Given the description of an element on the screen output the (x, y) to click on. 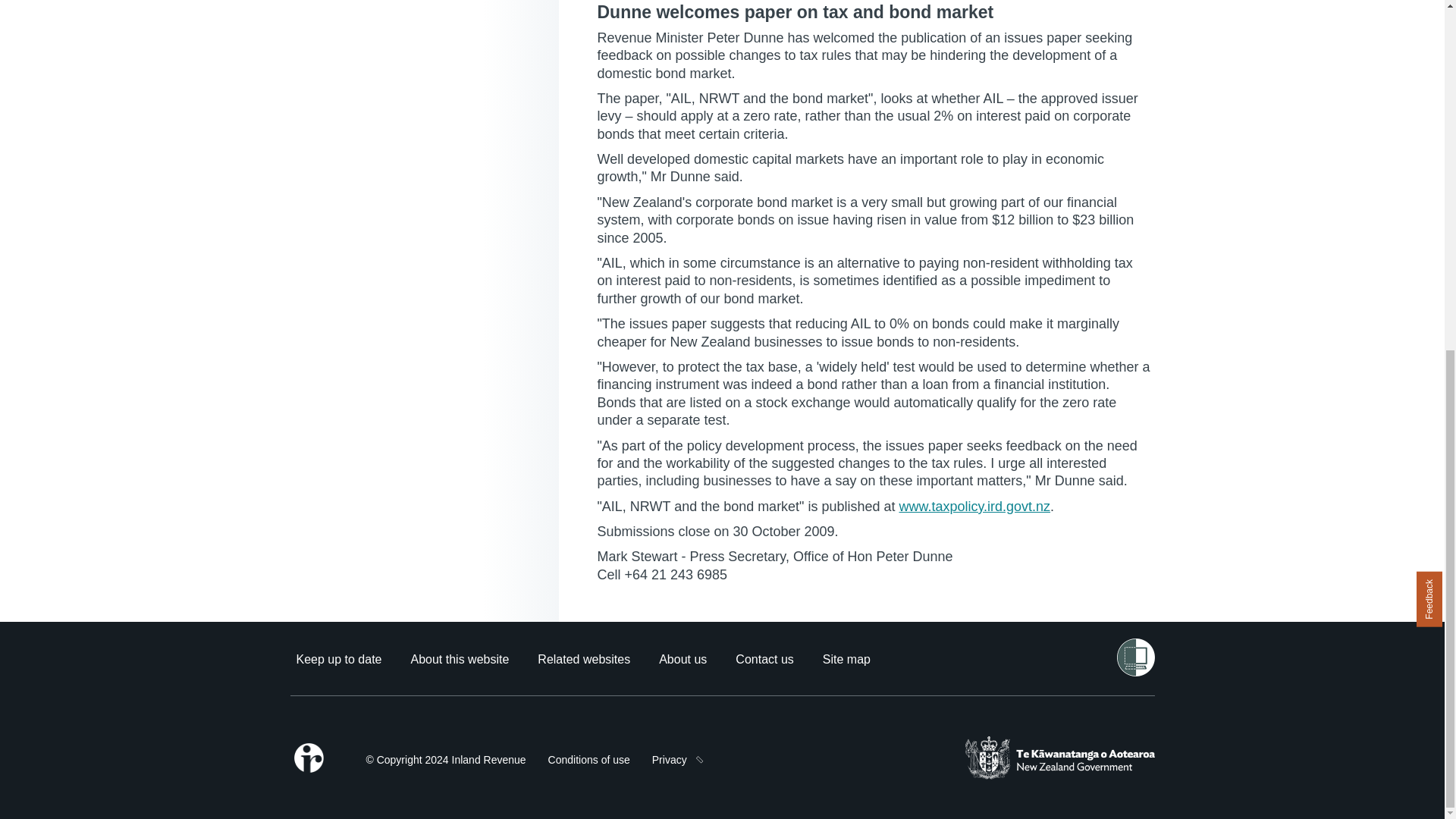
Keep up to date (338, 658)
Copyright policy (445, 759)
Keep up to date (338, 658)
Contact us (764, 658)
Related websites (583, 658)
Site map (846, 658)
Conditions of use (589, 759)
Contact us (764, 658)
About this website (459, 658)
About us (682, 658)
Related websites (583, 658)
Privacy (669, 759)
About us (682, 658)
Site map (846, 658)
www.taxpolicy.ird.govt.nz (973, 506)
